Given the description of an element on the screen output the (x, y) to click on. 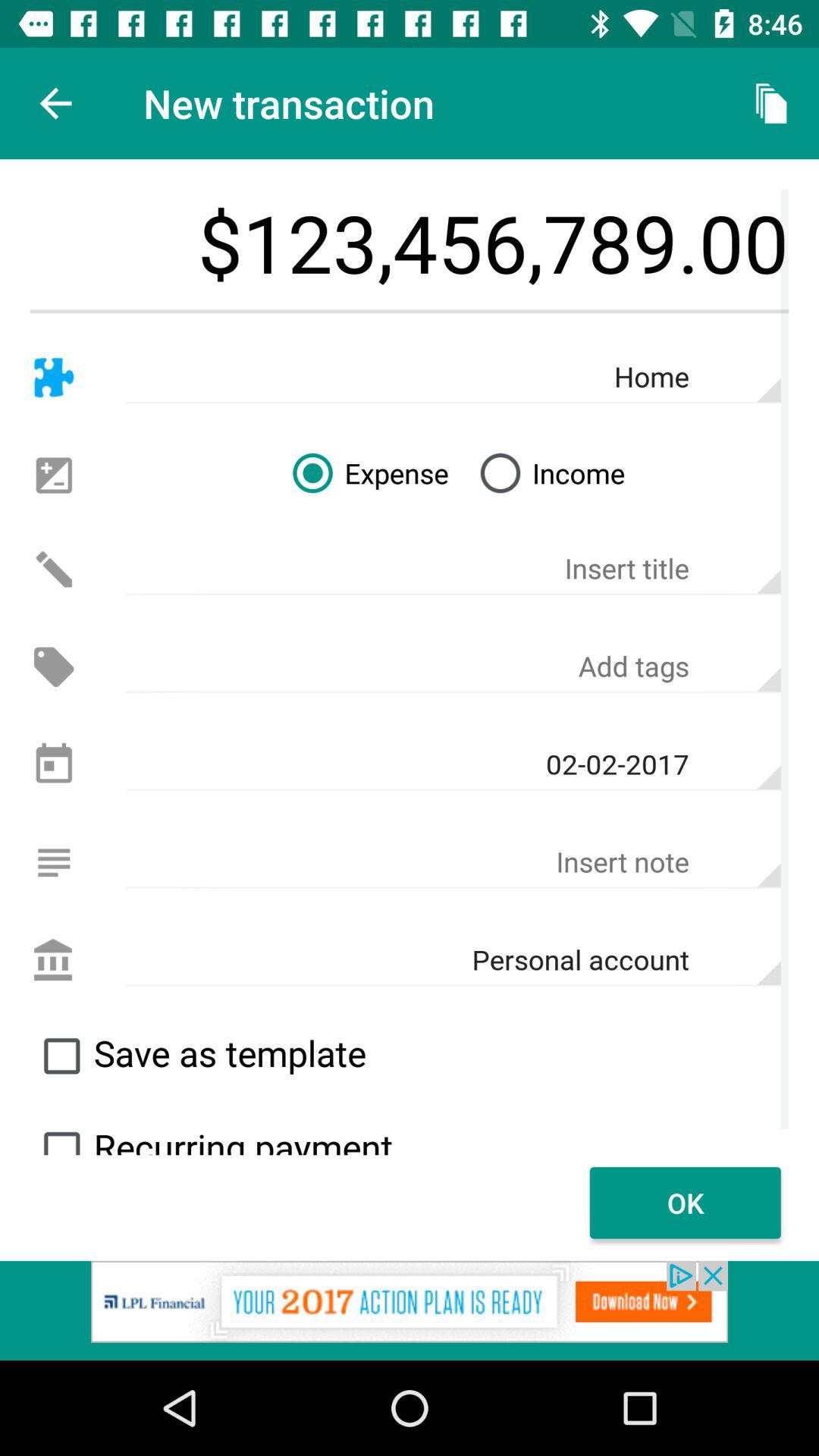
go to insert (53, 862)
